Given the description of an element on the screen output the (x, y) to click on. 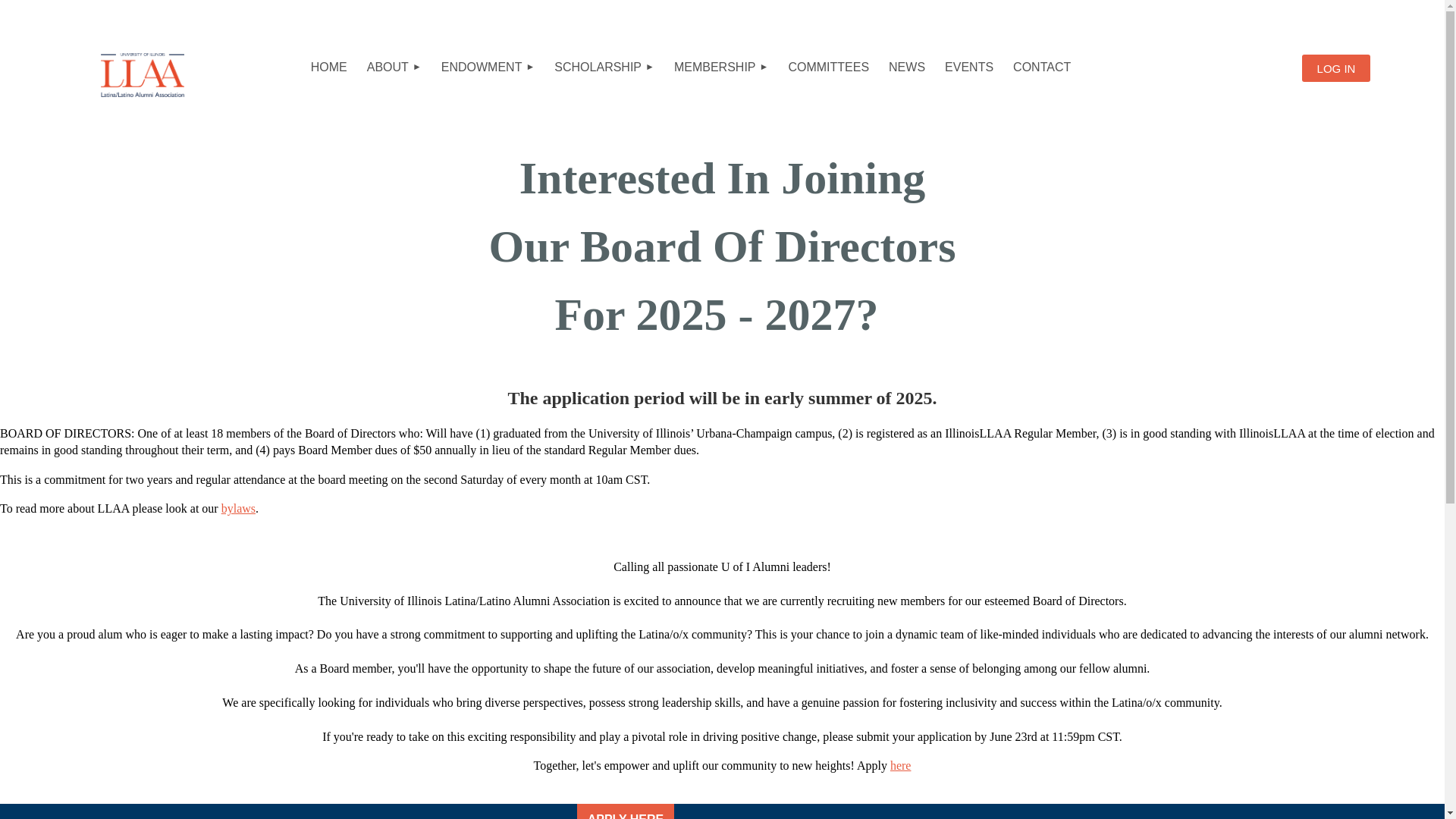
ABOUT (393, 67)
COMMITTEES (828, 67)
NEWS (906, 67)
ENDOWMENT (487, 67)
CONTACT (1041, 67)
MEMBERSHIP (720, 67)
EVENTS (968, 67)
SCHOLARSHIP (603, 67)
HOME (328, 67)
